Given the description of an element on the screen output the (x, y) to click on. 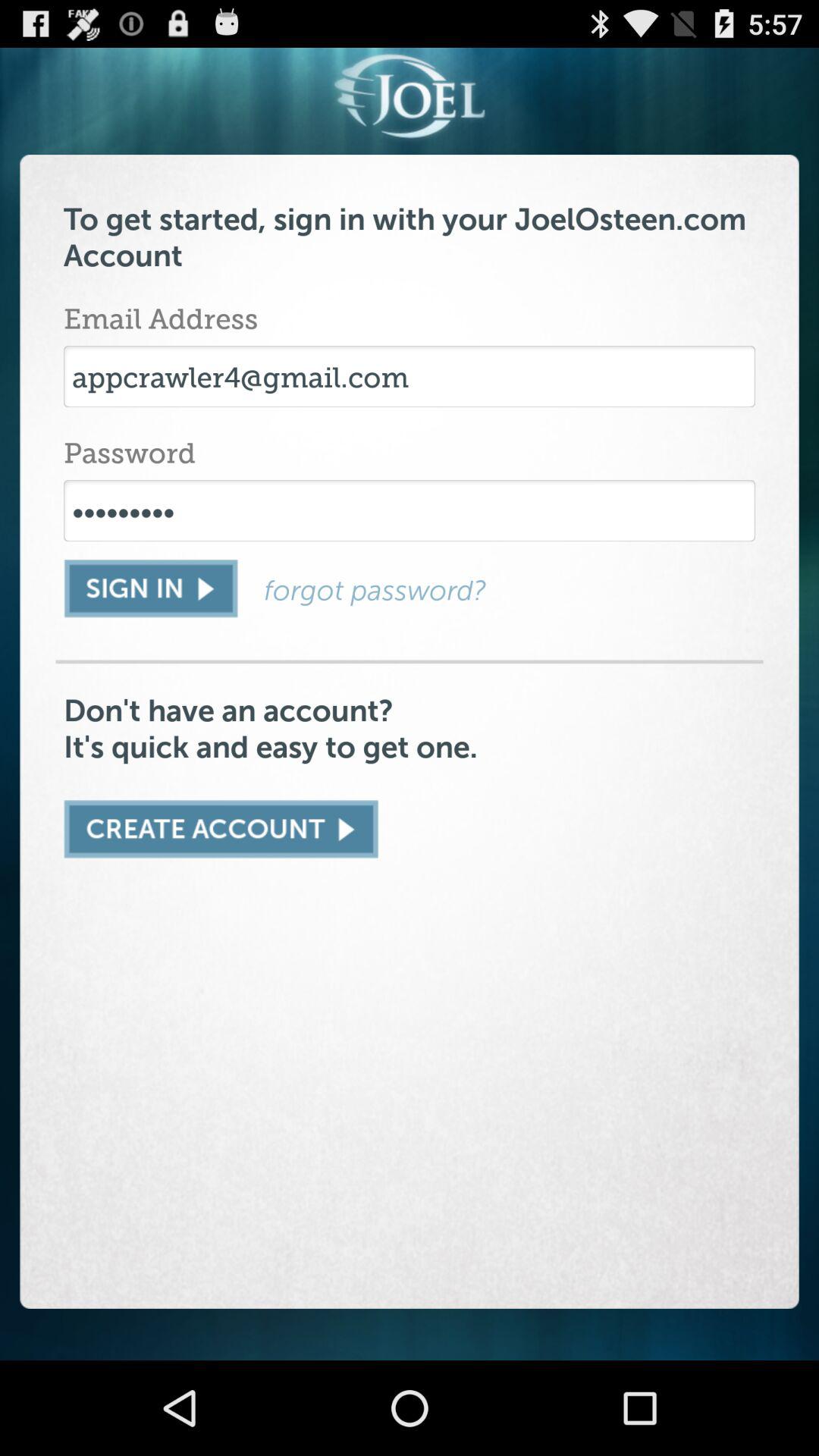
open icon below the don t have icon (220, 829)
